Given the description of an element on the screen output the (x, y) to click on. 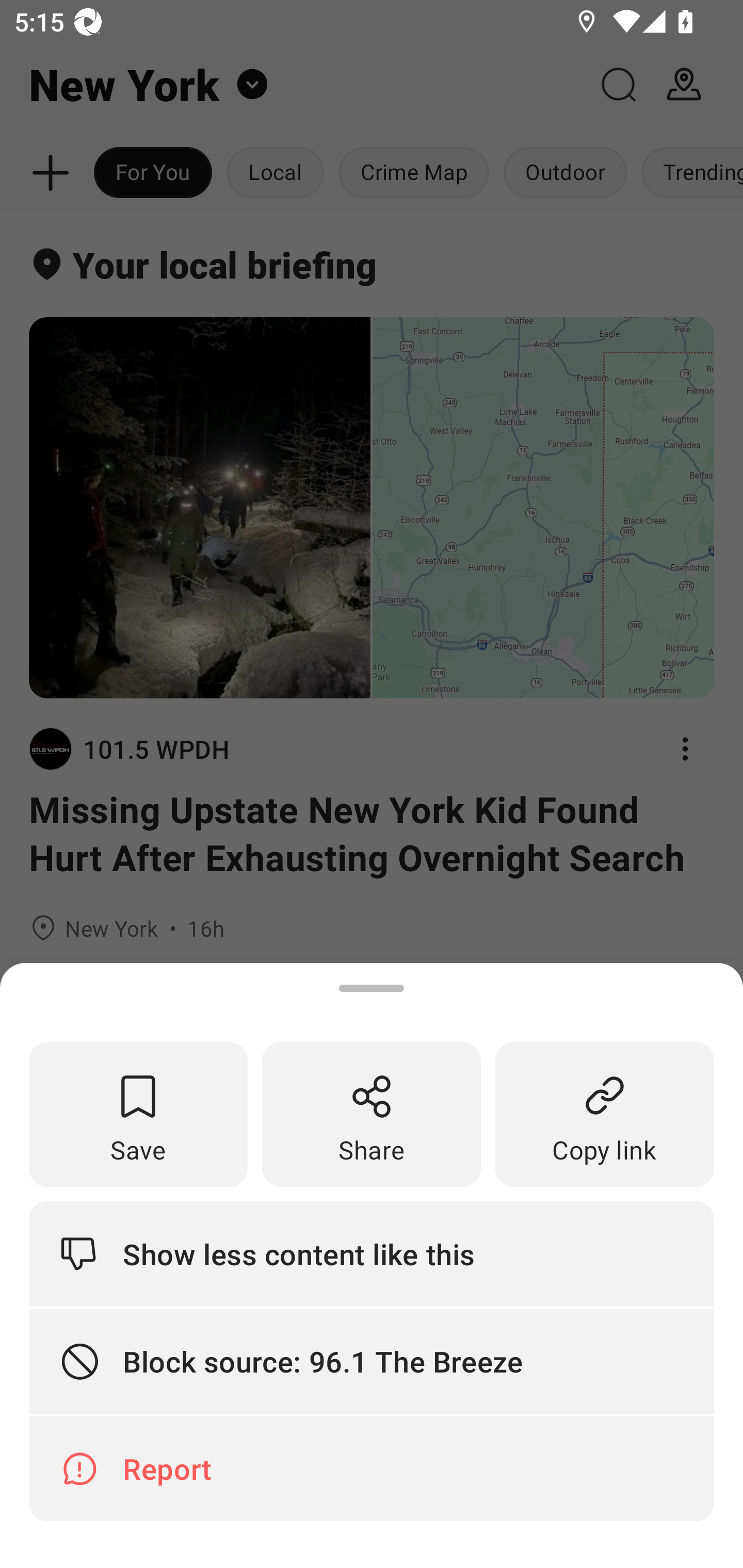
Save (137, 1114)
Share (371, 1114)
Copy link (604, 1114)
Show less content like this (371, 1253)
Block source: 96.1 The Breeze (371, 1361)
Report (371, 1467)
